Given the description of an element on the screen output the (x, y) to click on. 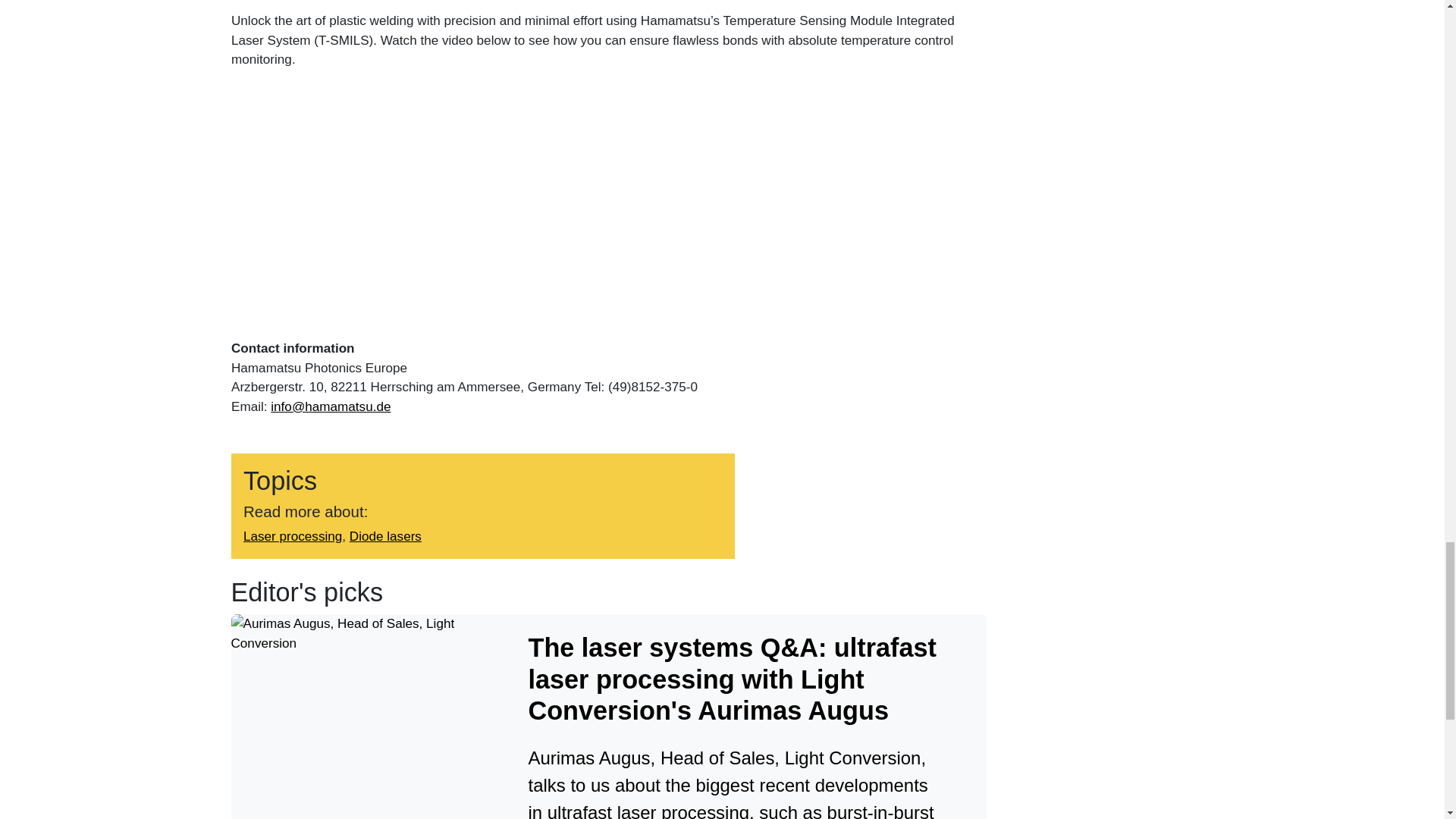
YouTube video player (442, 201)
Laser processing (291, 536)
Diode lasers (384, 536)
